Given the description of an element on the screen output the (x, y) to click on. 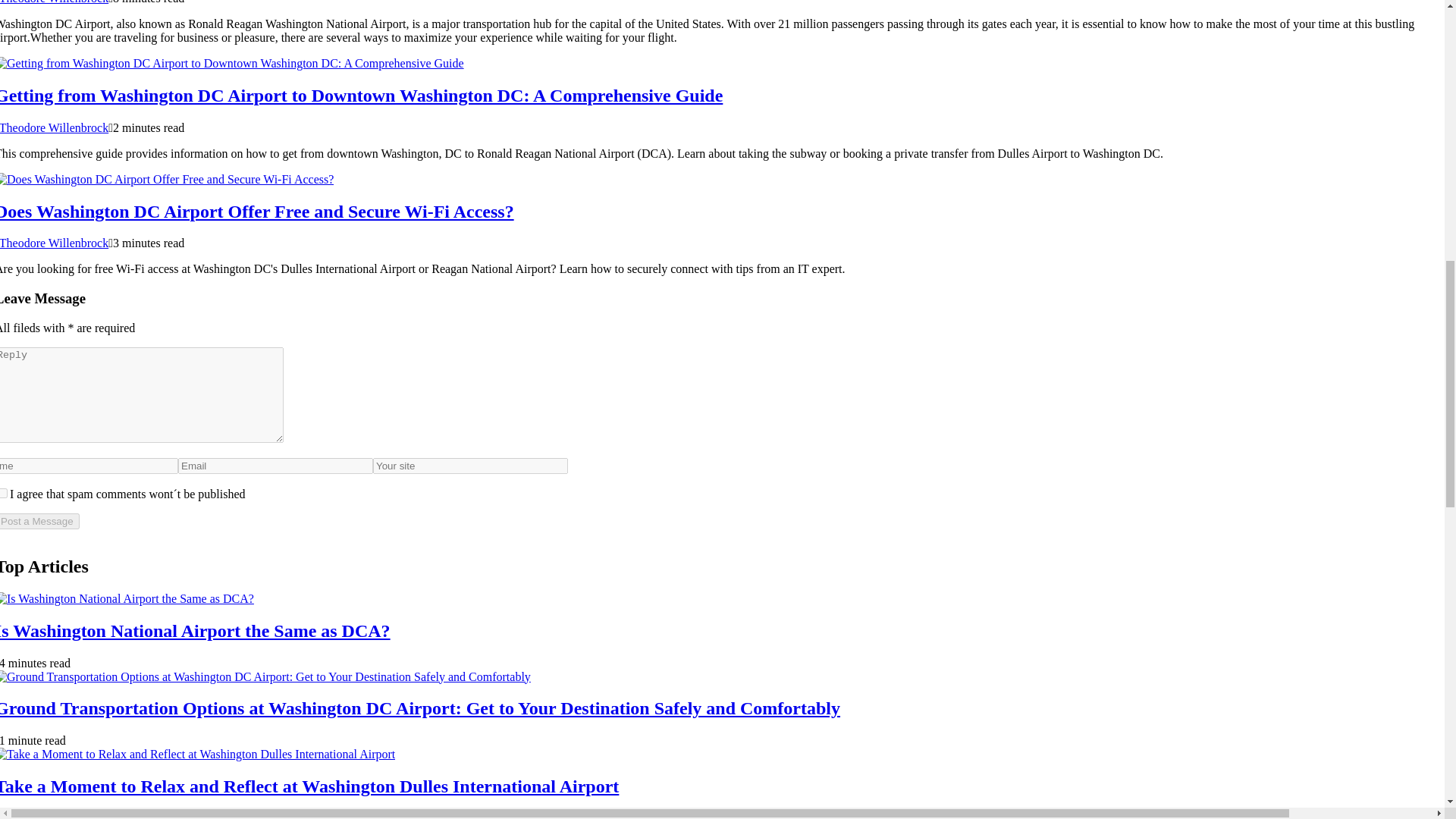
Is Washington National Airport the Same as DCA? (195, 630)
Theodore Willenbrock (53, 242)
Post a Message (40, 521)
Post a Message (40, 521)
Posts by Theodore Willenbrock (53, 127)
Theodore Willenbrock (53, 2)
Posts by Theodore Willenbrock (53, 2)
